Given the description of an element on the screen output the (x, y) to click on. 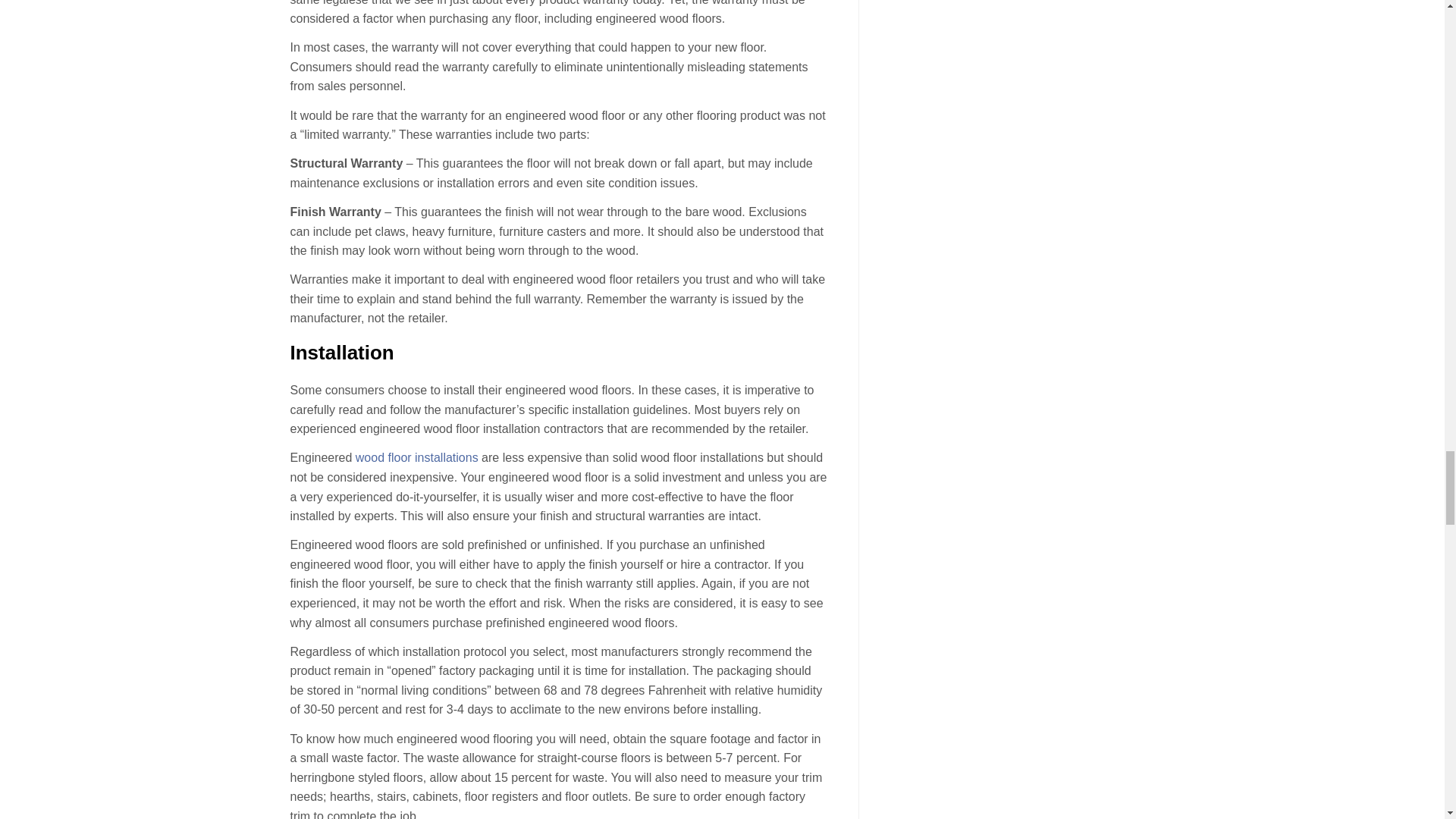
wood floor installations (417, 457)
